Given the description of an element on the screen output the (x, y) to click on. 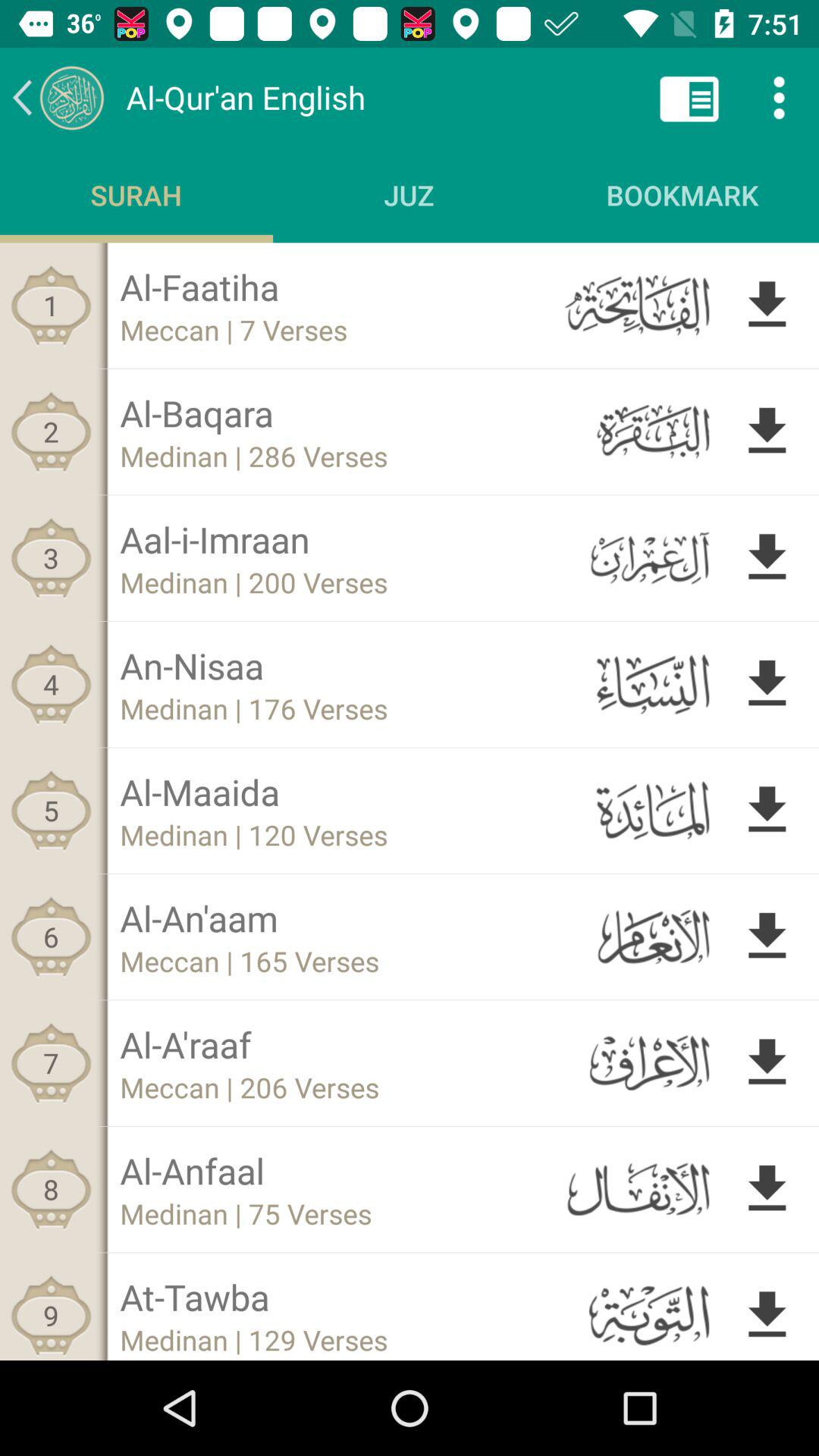
donnold (767, 1062)
